Given the description of an element on the screen output the (x, y) to click on. 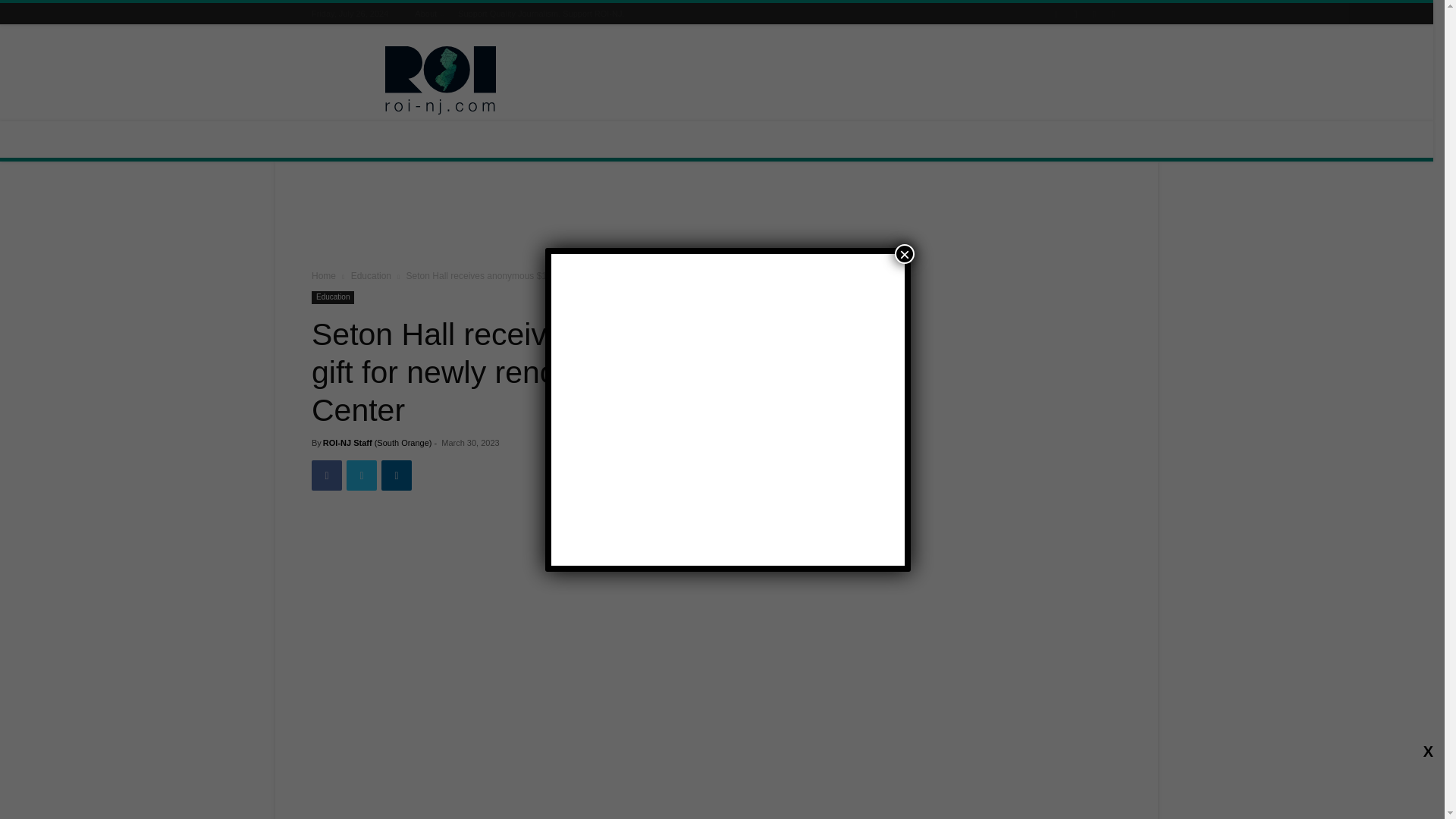
3rd party ad content (845, 79)
View all posts in Education (370, 276)
Twitter (361, 475)
Linkedin (396, 475)
3rd party ad content (716, 218)
Facebook (326, 475)
